Given the description of an element on the screen output the (x, y) to click on. 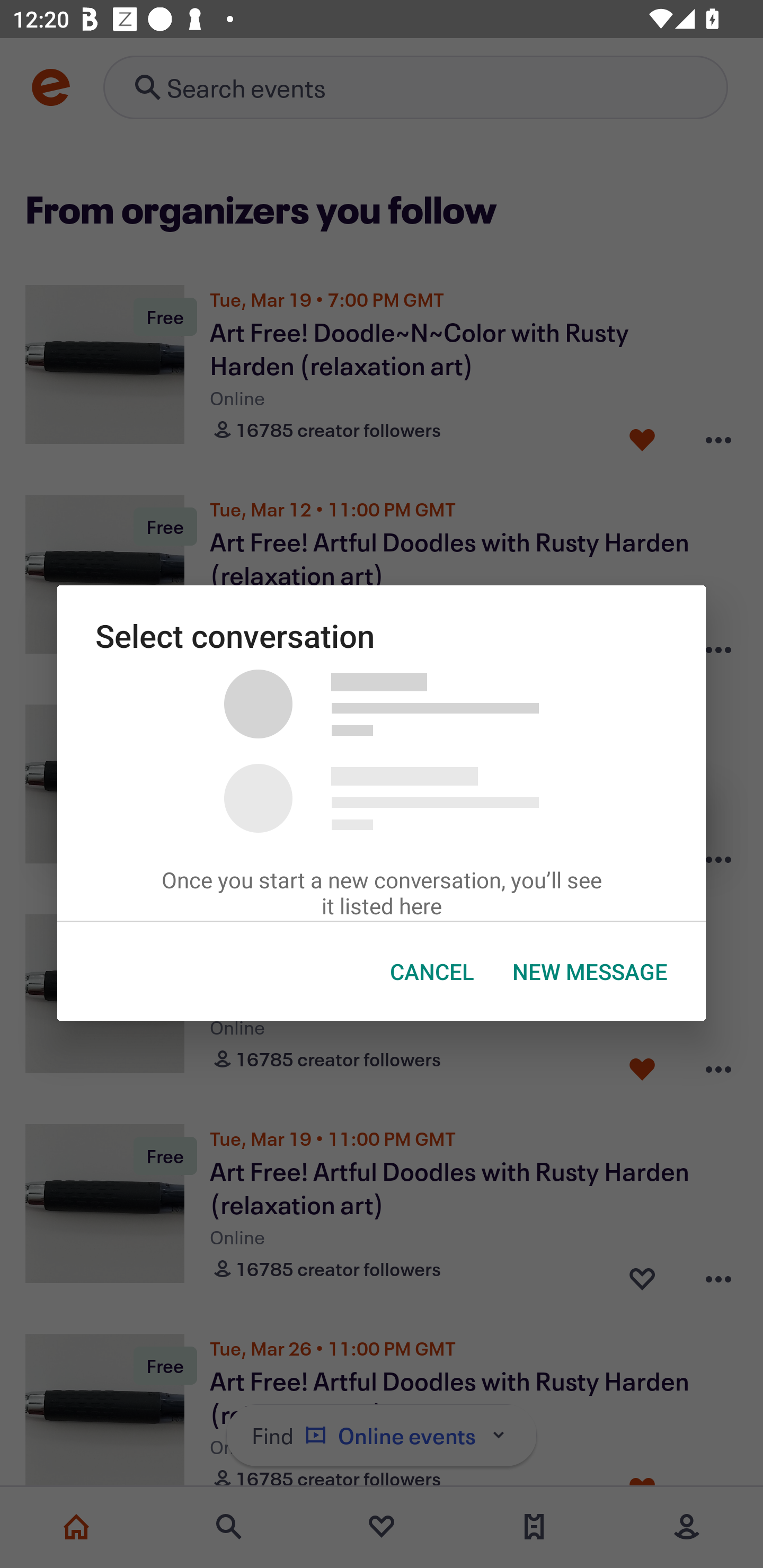
CANCEL (431, 971)
NEW MESSAGE (589, 971)
